Given the description of an element on the screen output the (x, y) to click on. 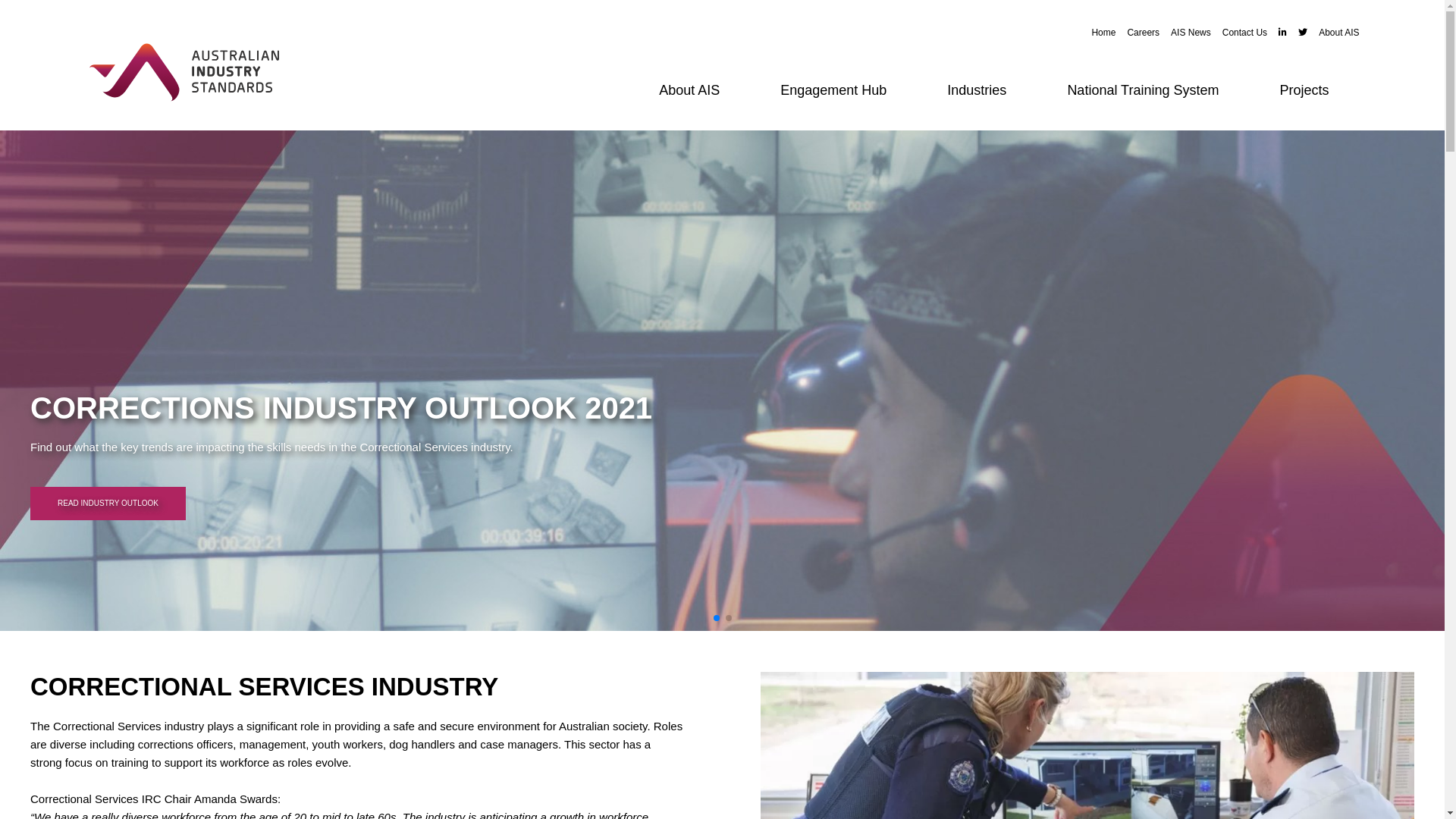
Home Element type: text (1097, 32)
Careers Element type: text (1137, 32)
National Training System Element type: text (1142, 90)
About AIS Element type: text (1332, 32)
About AIS Element type: text (688, 90)
Engagement Hub Element type: text (832, 90)
READ INDUSTRY OUTLOOK Element type: text (506, 503)
AIS News Element type: text (1185, 32)
Contact Us Element type: text (1239, 32)
Projects Element type: text (1303, 90)
Industries Element type: text (976, 90)
